Given the description of an element on the screen output the (x, y) to click on. 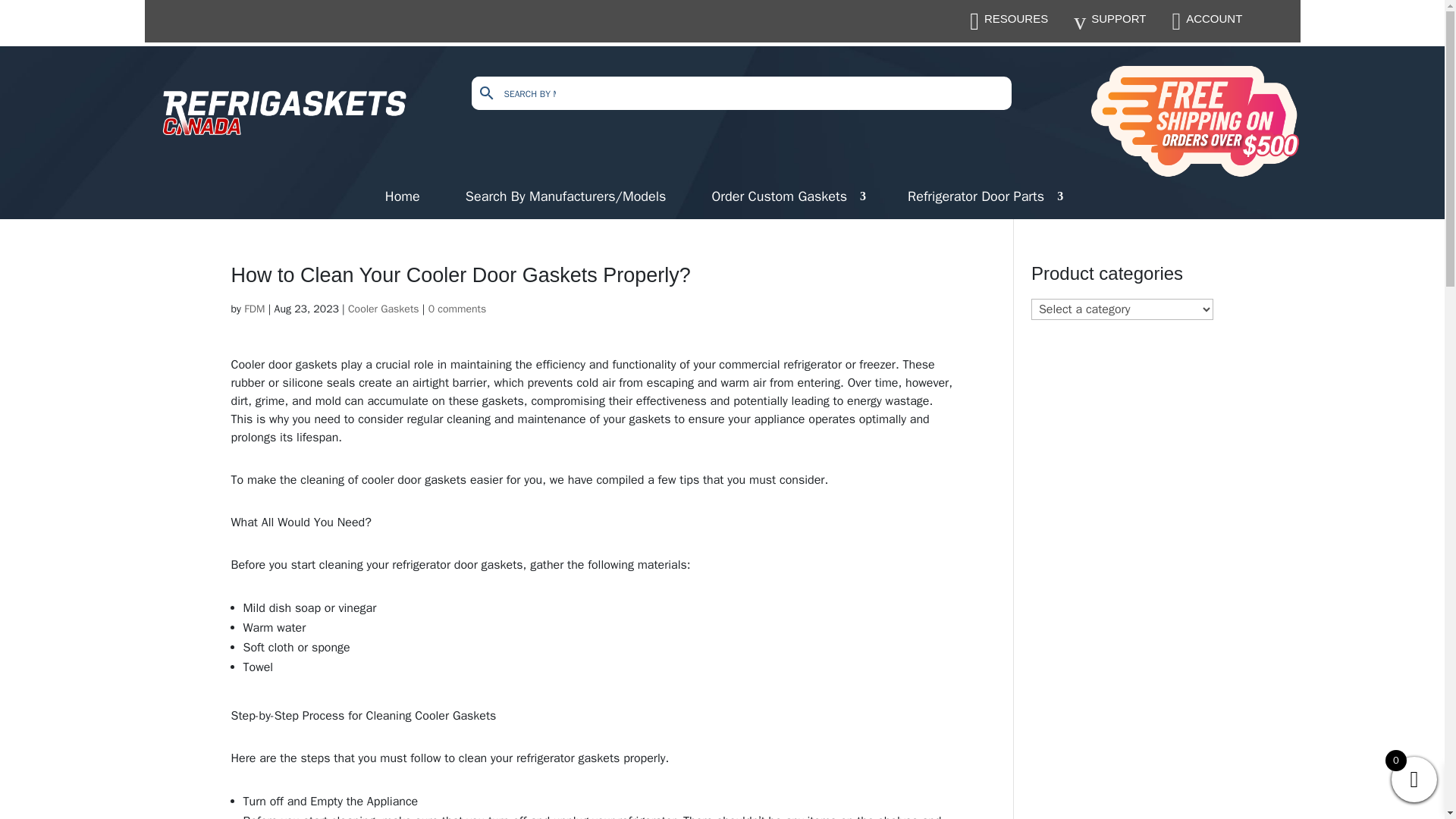
Home (402, 199)
SUPPORT (1117, 18)
FDM (254, 308)
Refrigerator Door Parts (983, 199)
Logo-Refrigaskets-Canada (288, 116)
Free-Shipping-offer (1193, 120)
Order Custom Gaskets (786, 199)
Posts by FDM (254, 308)
0 comments (457, 308)
Cooler Gaskets (383, 308)
RESOURES (1016, 18)
